Given the description of an element on the screen output the (x, y) to click on. 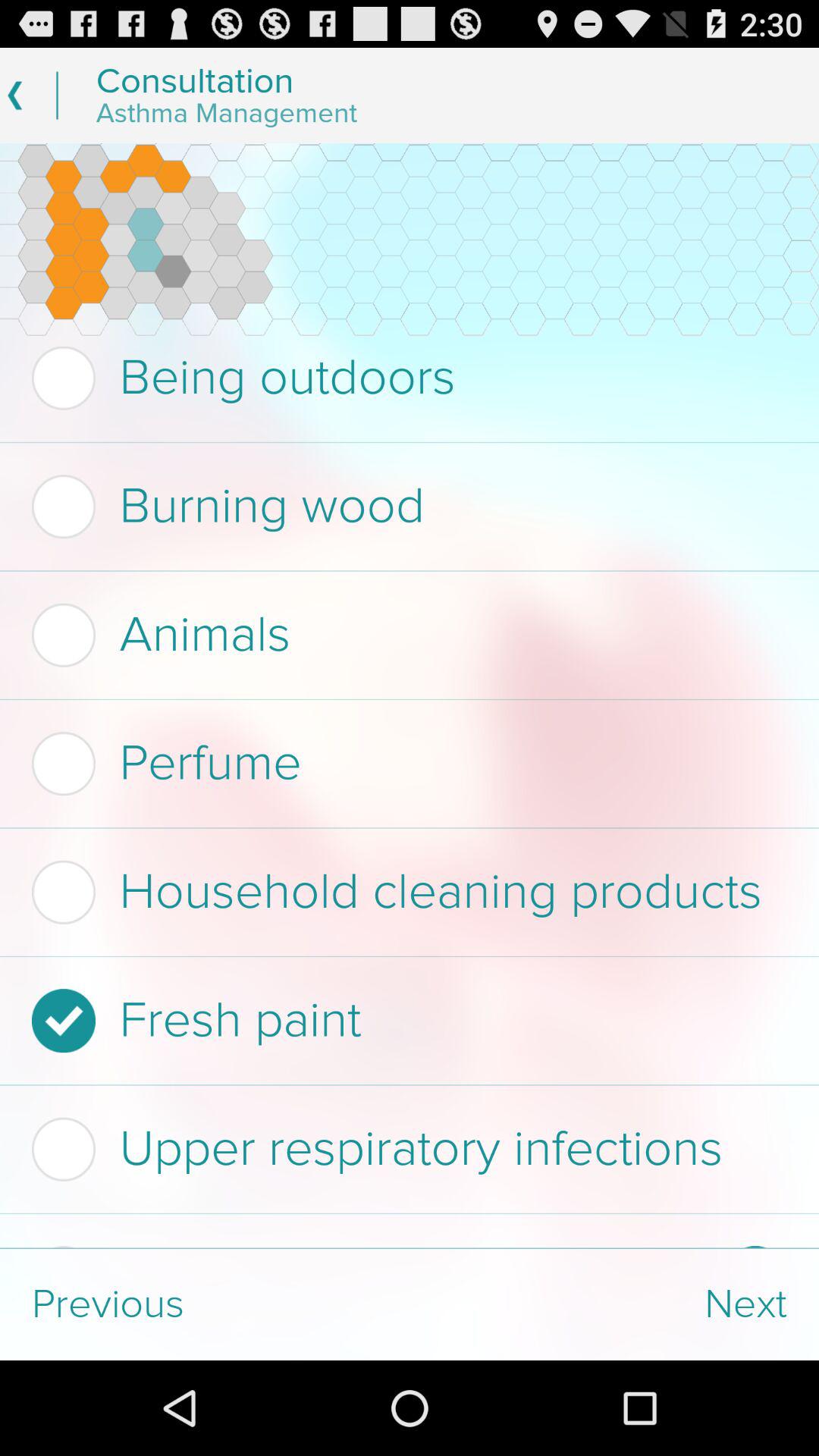
swipe until being outdoors (405, 378)
